Given the description of an element on the screen output the (x, y) to click on. 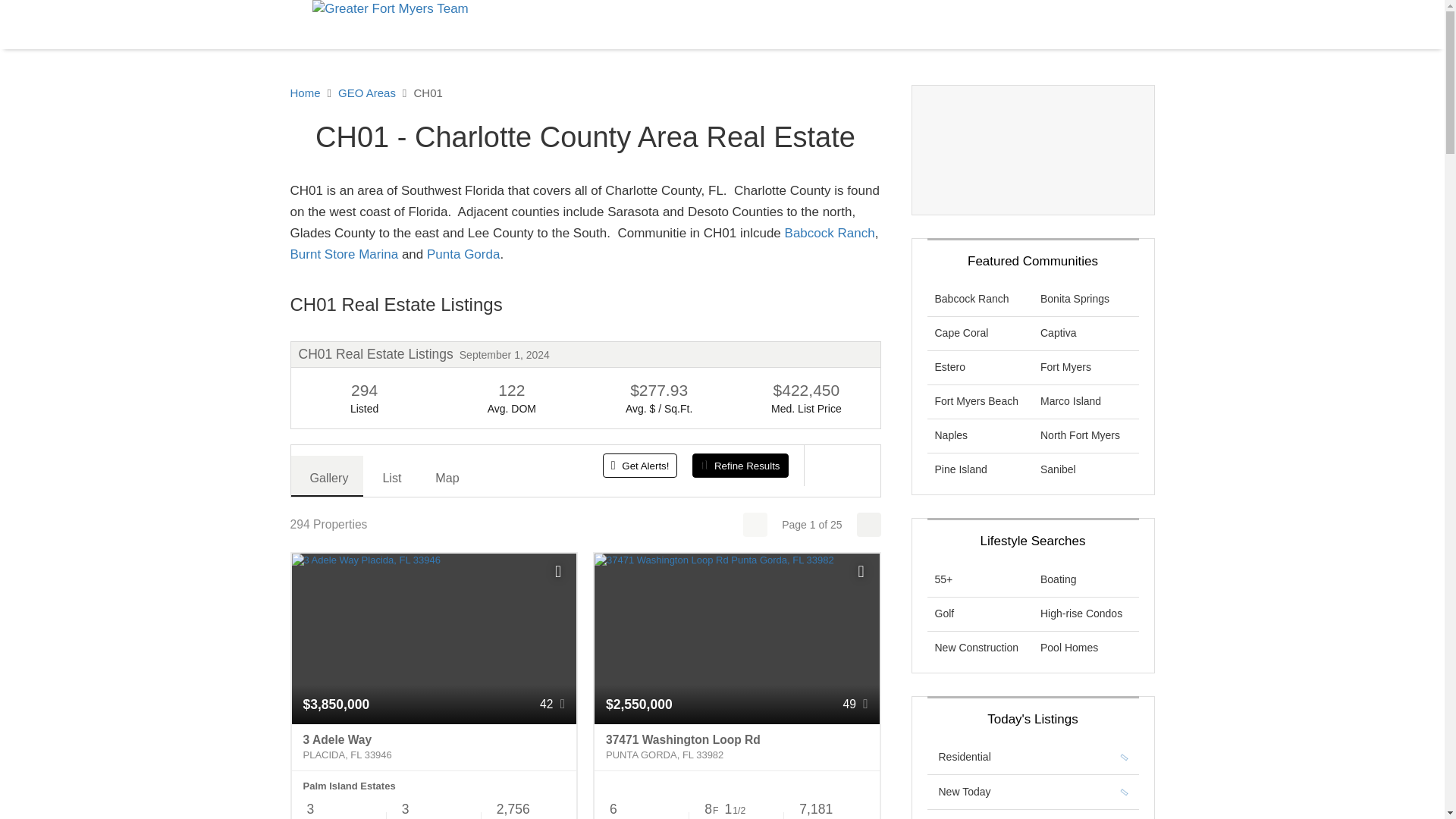
burnt store marina real estate (343, 254)
3 Adele Way Placida,  FL 33946 (433, 747)
babcock ranch real estate (829, 233)
punta gorda real estate (462, 254)
37471 Washington Loop Rd Punta Gorda,  FL 33982 (736, 747)
